Given the description of an element on the screen output the (x, y) to click on. 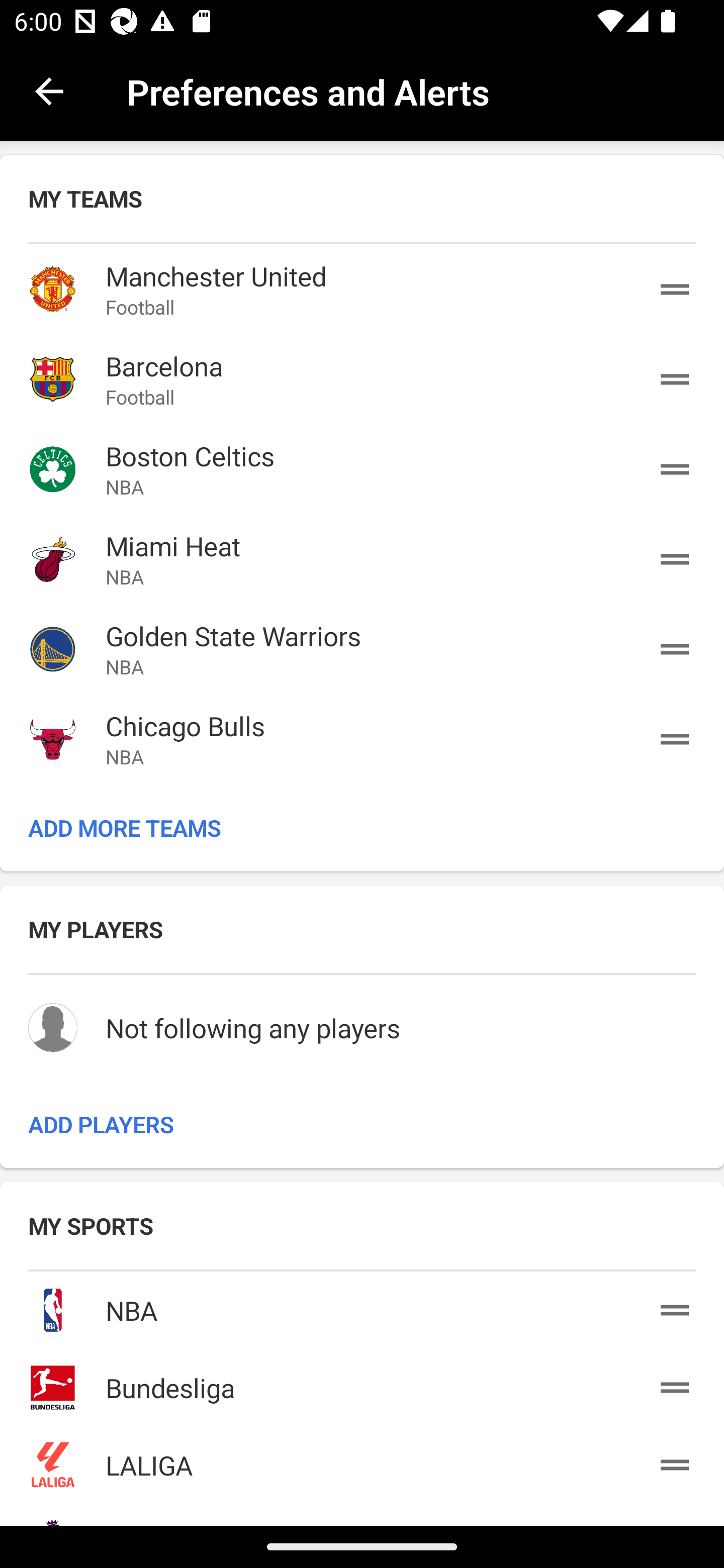
back.button (49, 90)
Barcelona Barcelona Barcelona Football Football (362, 378)
Miami Heat Miami Heat Miami Heat NBA NBA (362, 558)
Chicago Bulls Chicago Bulls Chicago Bulls NBA NBA (362, 739)
ADD MORE TEAMS (362, 827)
ADD PLAYERS (362, 1124)
NBA NBA NBA (362, 1306)
Bundesliga Bundesliga Bundesliga (362, 1383)
LALIGA LALIGA LALIGA (362, 1461)
